Given the description of an element on the screen output the (x, y) to click on. 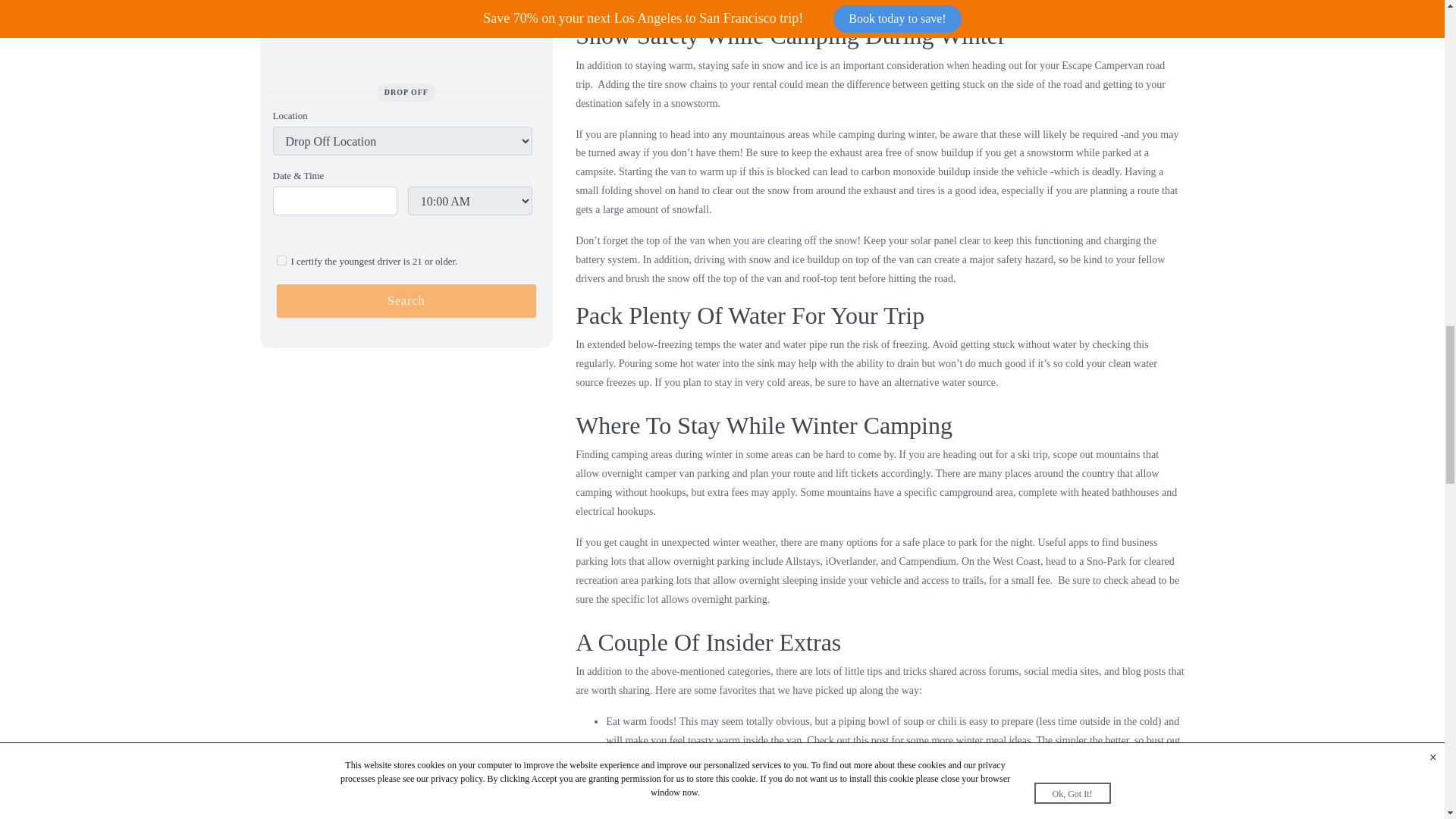
Search (405, 300)
Search (405, 300)
9 (280, 260)
